Given the description of an element on the screen output the (x, y) to click on. 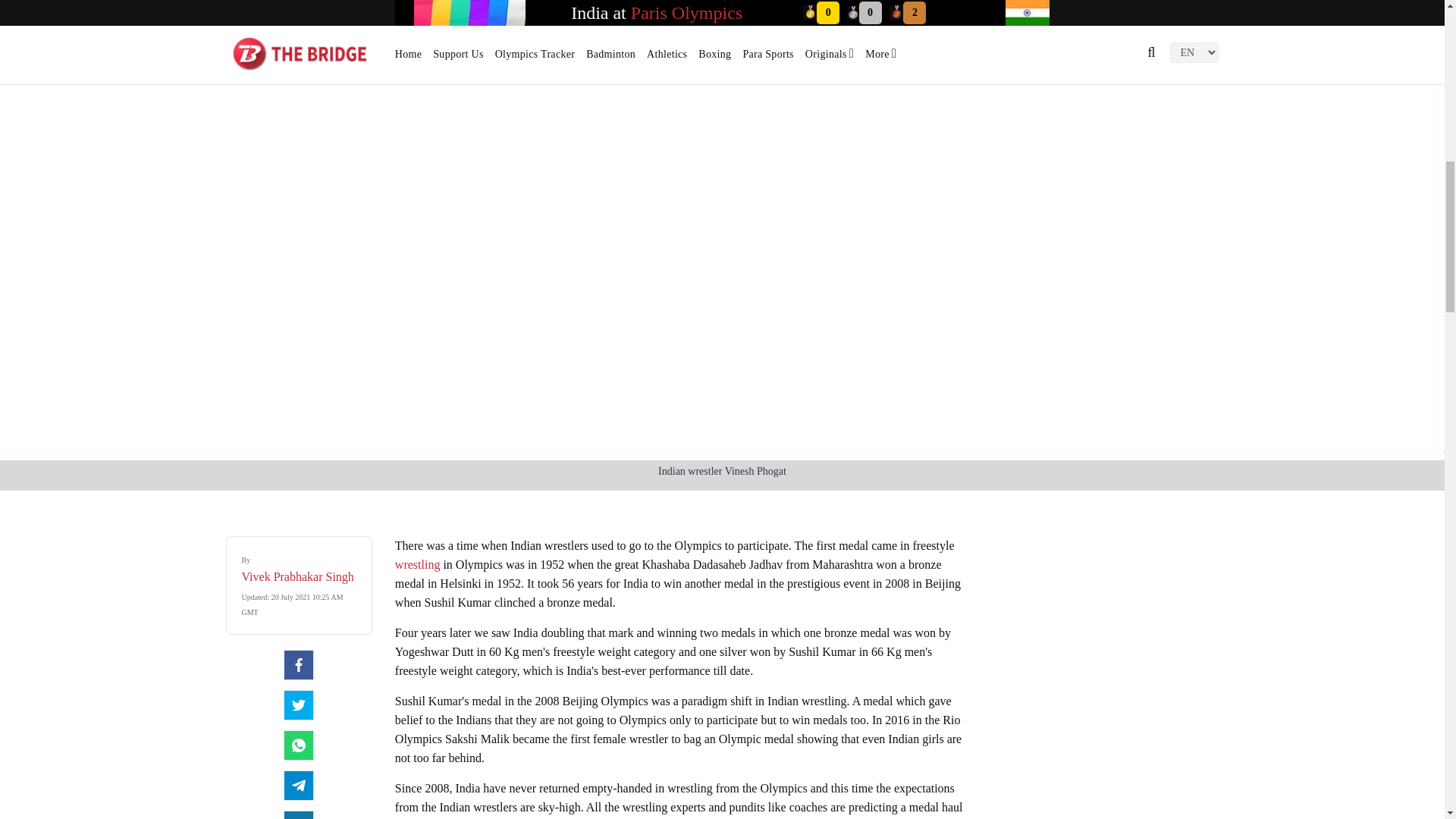
LinkedIn (298, 814)
